Given the description of an element on the screen output the (x, y) to click on. 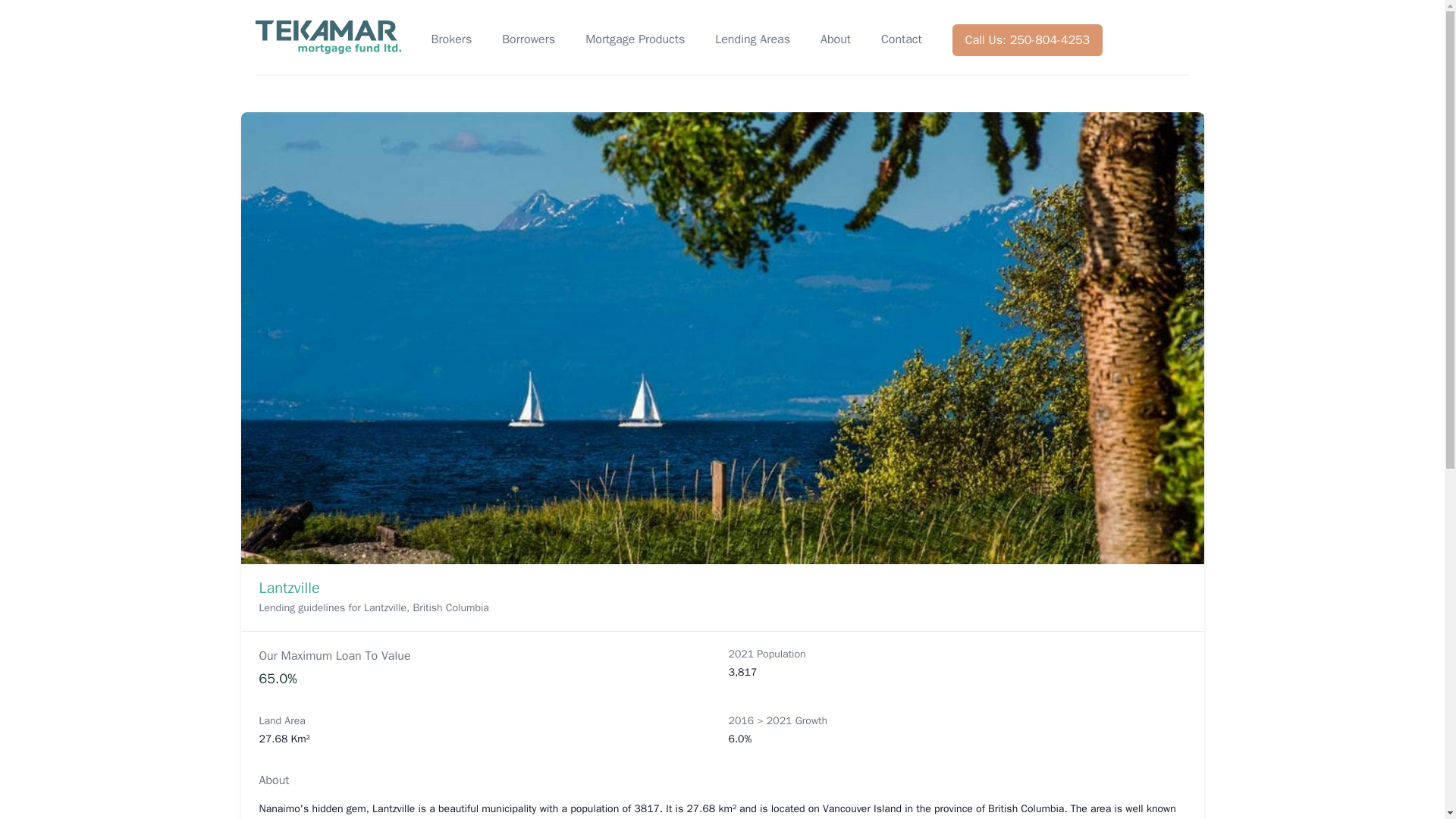
Tekamar (327, 36)
Mortgage Products (634, 40)
Lending Areas (752, 40)
About (835, 40)
Call Us: 250-804-4253 (1027, 40)
Contact (900, 40)
Borrowers (528, 40)
Brokers (450, 40)
